Given the description of an element on the screen output the (x, y) to click on. 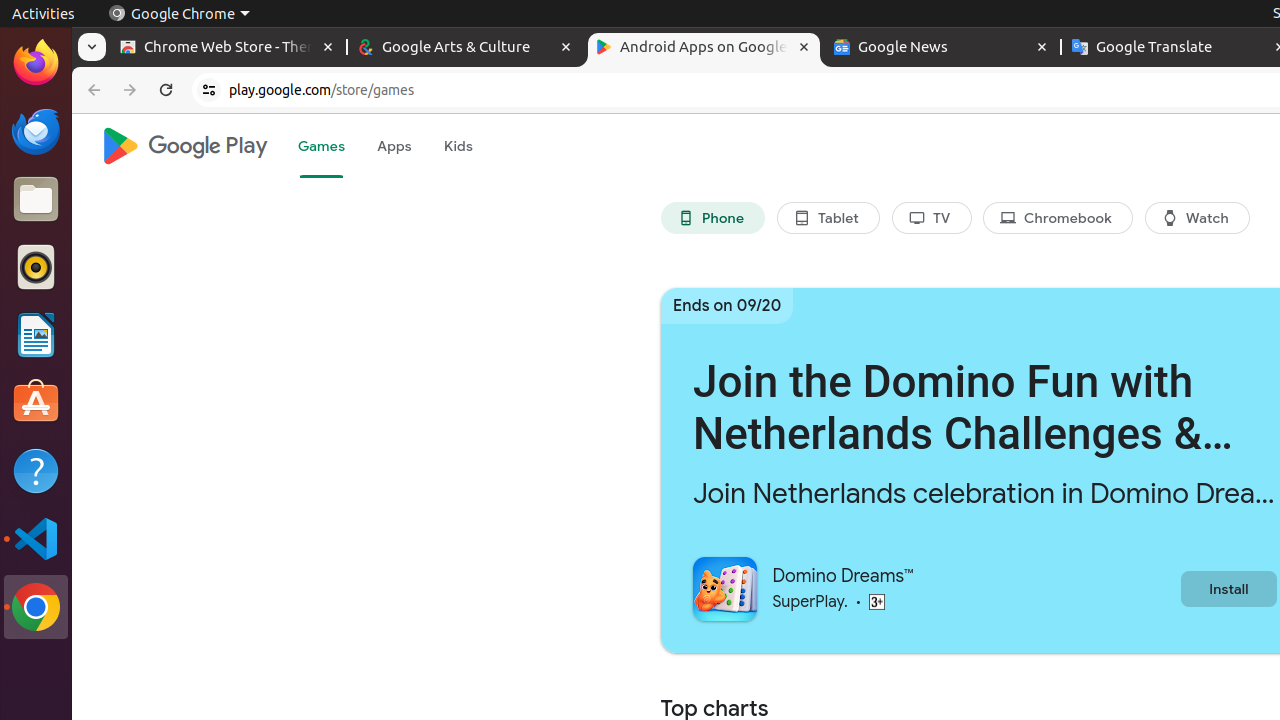
TV Element type: link (931, 218)
Help Element type: push-button (36, 470)
Thunderbird Mail Element type: push-button (36, 131)
Install Element type: push-button (1228, 588)
Rhythmbox Element type: push-button (36, 267)
